Given the description of an element on the screen output the (x, y) to click on. 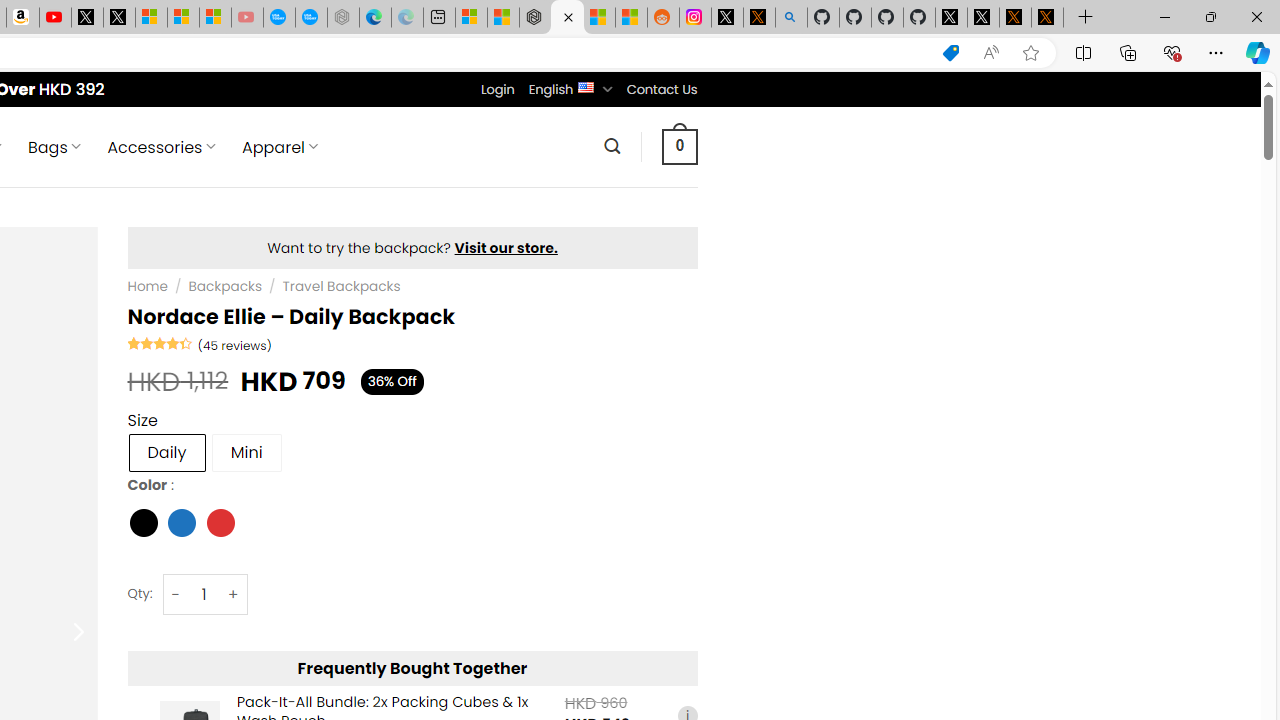
Shanghai, China Weather trends | Microsoft Weather (630, 17)
Rated 4.33 out of 5 (160, 342)
Home (147, 286)
Nordace Ellie - Daily Backpack (566, 17)
The most popular Google 'how to' searches (310, 17)
